Given the description of an element on the screen output the (x, y) to click on. 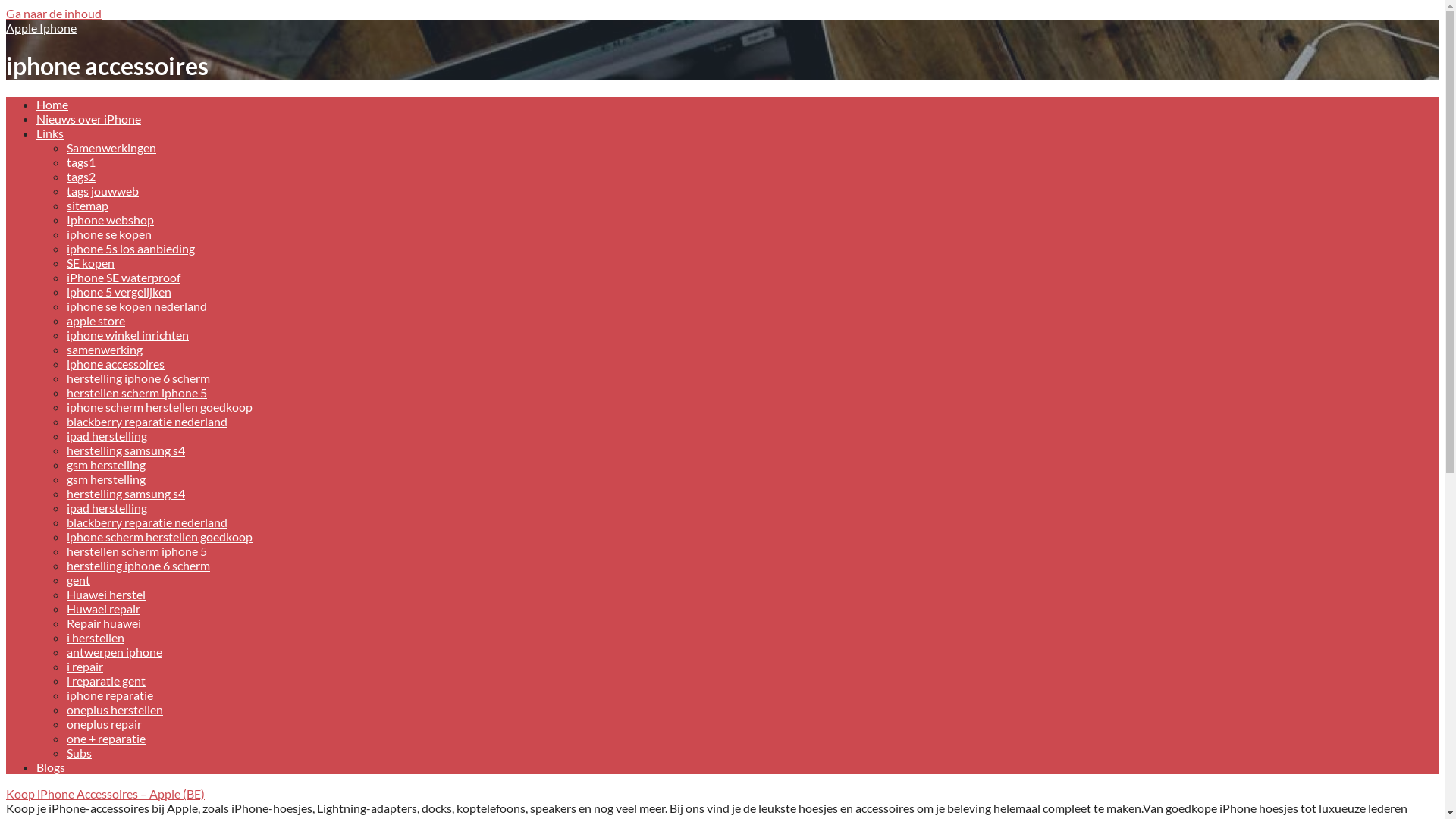
tags1 Element type: text (80, 161)
SE kopen Element type: text (90, 262)
sitemap Element type: text (87, 204)
iphone 5 vergelijken Element type: text (118, 291)
iphone scherm herstellen goedkoop Element type: text (159, 406)
blackberry reparatie nederland Element type: text (146, 521)
samenwerking Element type: text (104, 349)
Samenwerkingen Element type: text (111, 147)
i repair Element type: text (84, 665)
blackberry reparatie nederland Element type: text (146, 421)
tags jouwweb Element type: text (102, 190)
oneplus repair Element type: text (103, 723)
Home Element type: text (52, 104)
Huawei herstel Element type: text (105, 593)
iPhone SE waterproof Element type: text (123, 276)
Repair huawei Element type: text (103, 622)
oneplus herstellen Element type: text (114, 709)
one + reparatie Element type: text (105, 738)
i reparatie gent Element type: text (105, 680)
herstelling samsung s4 Element type: text (125, 449)
Huwaei repair Element type: text (103, 608)
herstelling samsung s4 Element type: text (125, 493)
iphone reparatie Element type: text (109, 694)
gsm herstelling Element type: text (105, 478)
Apple Iphone Element type: text (41, 27)
iphone se kopen Element type: text (108, 233)
Ga naar de inhoud Element type: text (53, 13)
ipad herstelling Element type: text (106, 435)
Nieuws over iPhone Element type: text (88, 118)
herstellen scherm iphone 5 Element type: text (136, 392)
herstelling iphone 6 scherm Element type: text (138, 377)
apple store Element type: text (95, 320)
i herstellen Element type: text (95, 637)
tags2 Element type: text (80, 176)
Blogs Element type: text (50, 766)
iphone winkel inrichten Element type: text (127, 334)
ipad herstelling Element type: text (106, 507)
iphone se kopen nederland Element type: text (136, 305)
herstelling iphone 6 scherm Element type: text (138, 565)
herstellen scherm iphone 5 Element type: text (136, 550)
gent Element type: text (78, 579)
Subs Element type: text (78, 752)
Iphone webshop Element type: text (109, 219)
antwerpen iphone Element type: text (114, 651)
iphone 5s los aanbieding Element type: text (130, 248)
Links Element type: text (49, 132)
iphone scherm herstellen goedkoop Element type: text (159, 536)
iphone accessoires Element type: text (115, 363)
gsm herstelling Element type: text (105, 464)
